Given the description of an element on the screen output the (x, y) to click on. 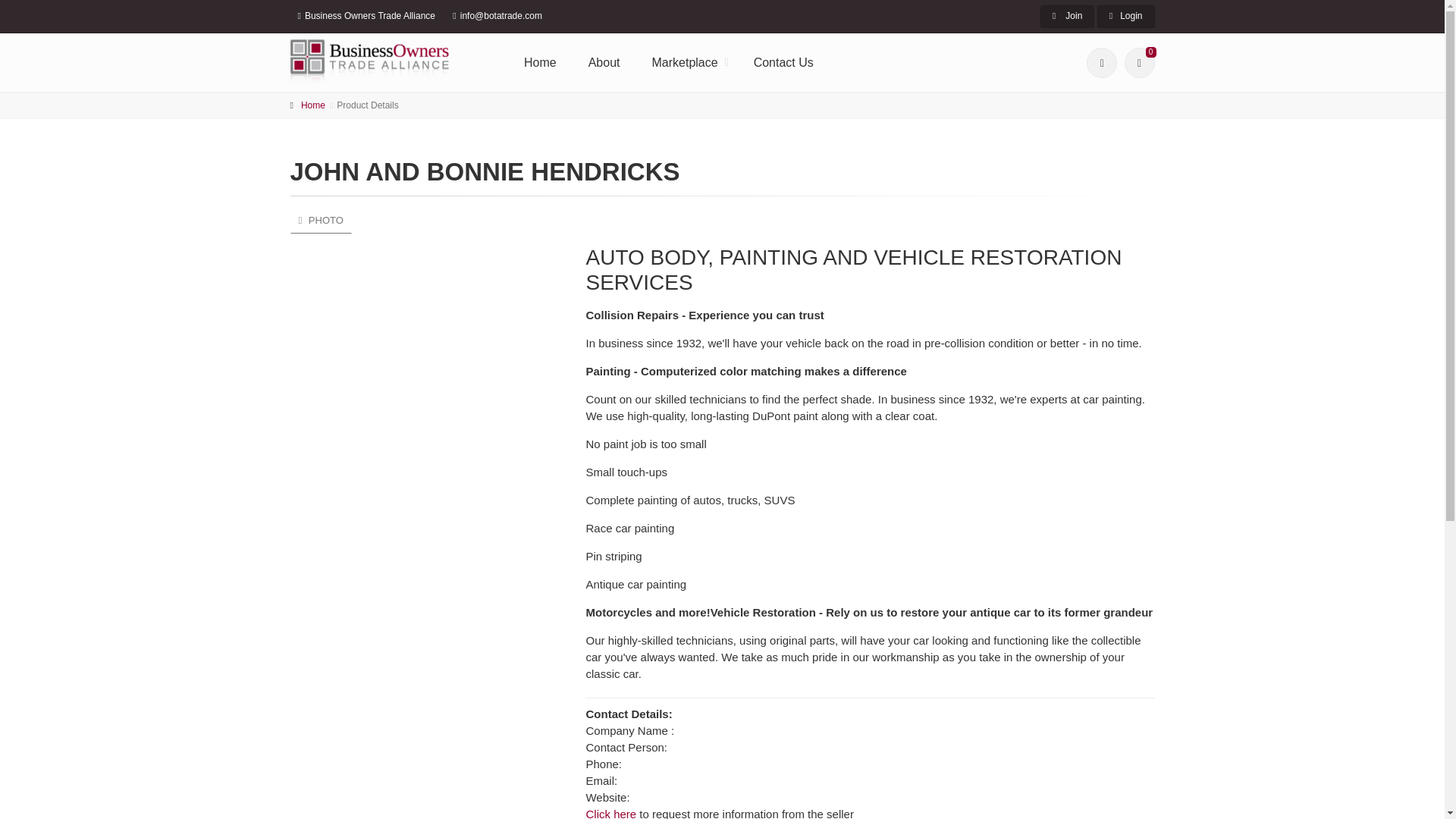
Marketplace (686, 62)
About (603, 62)
Home (540, 62)
Join (1067, 15)
0 (1139, 62)
images (319, 220)
Login (1125, 15)
